Given the description of an element on the screen output the (x, y) to click on. 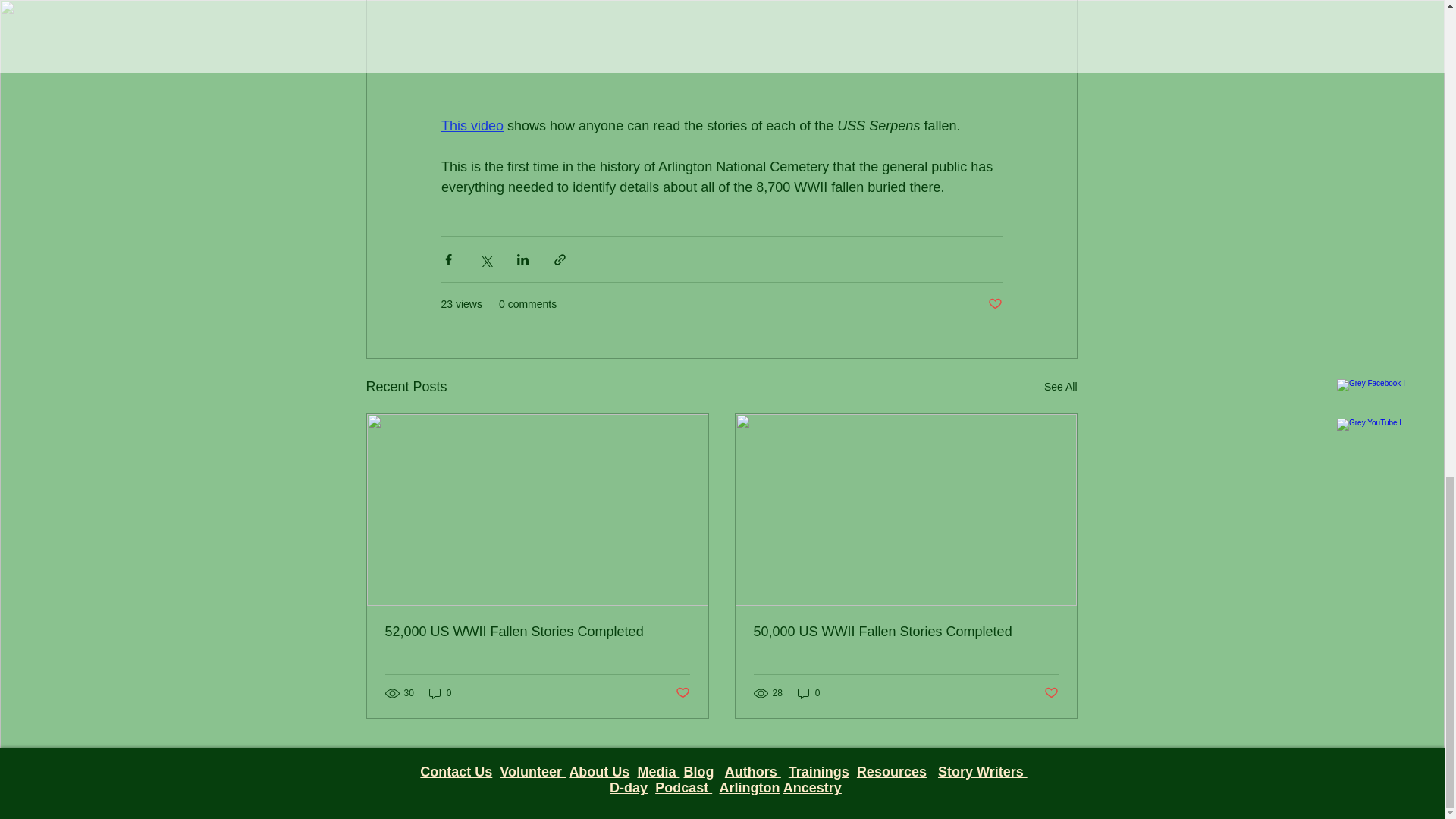
See All (1060, 386)
Post not marked as liked (994, 304)
This video (472, 125)
